Given the description of an element on the screen output the (x, y) to click on. 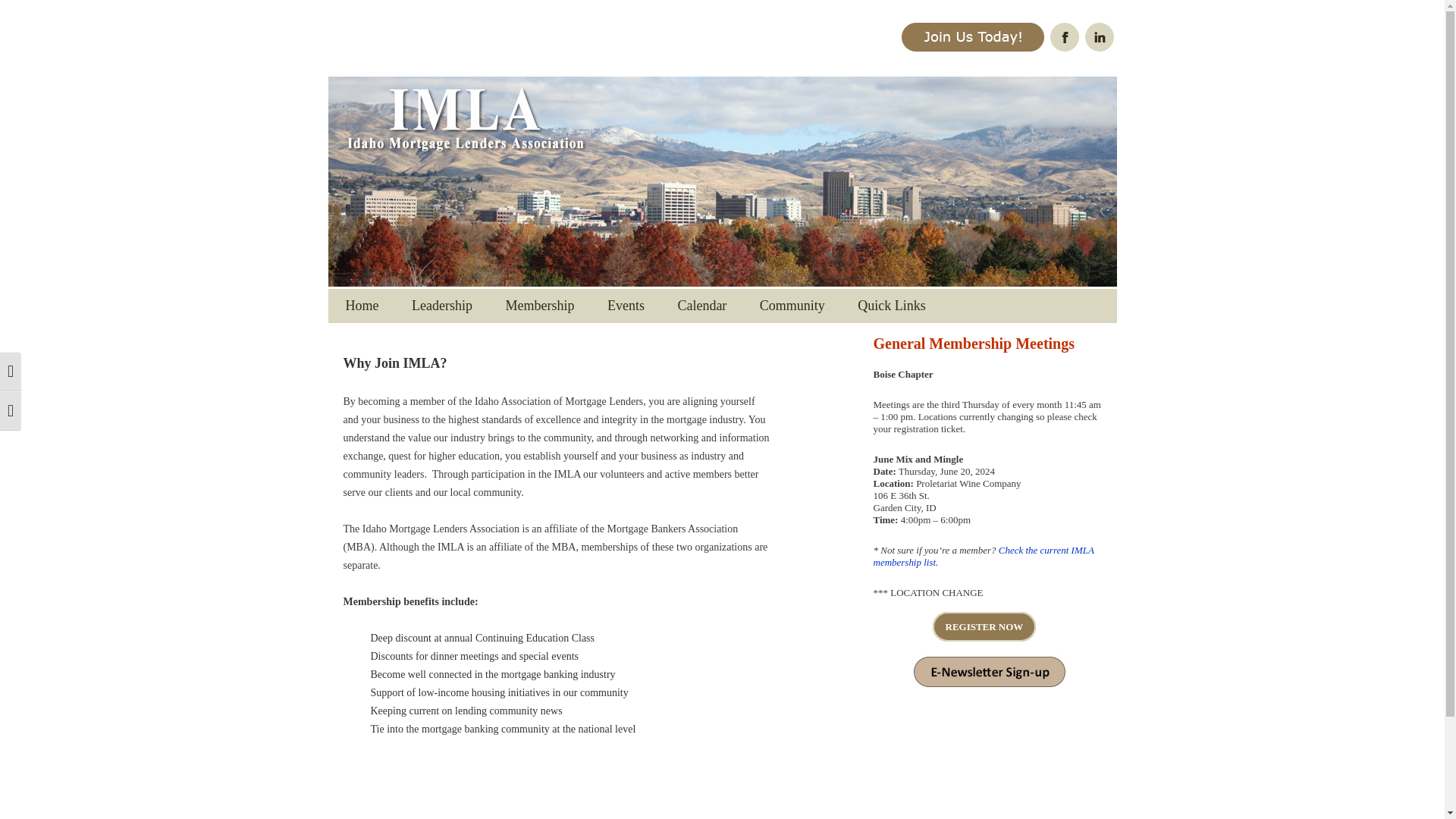
Home (362, 305)
Join Now (573, 337)
Golf (675, 337)
Quick Links (891, 305)
Leadership (441, 305)
Calendar (701, 305)
Community (792, 305)
REGISTER NOW (984, 626)
Check the current IMLA membership list. (983, 556)
Membership (539, 305)
Events (626, 305)
